Given the description of an element on the screen output the (x, y) to click on. 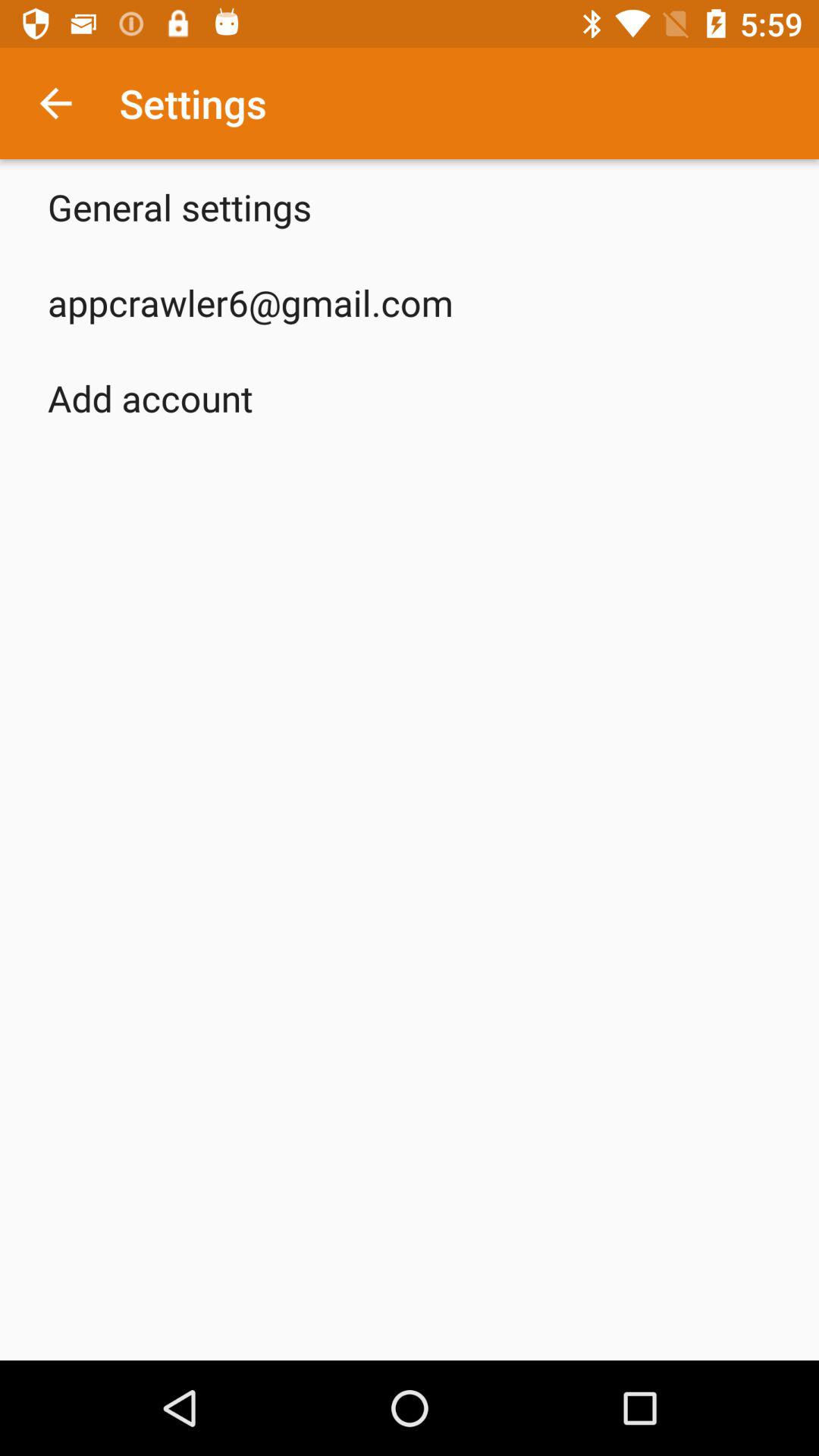
swipe until appcrawler6@gmail.com item (250, 302)
